Given the description of an element on the screen output the (x, y) to click on. 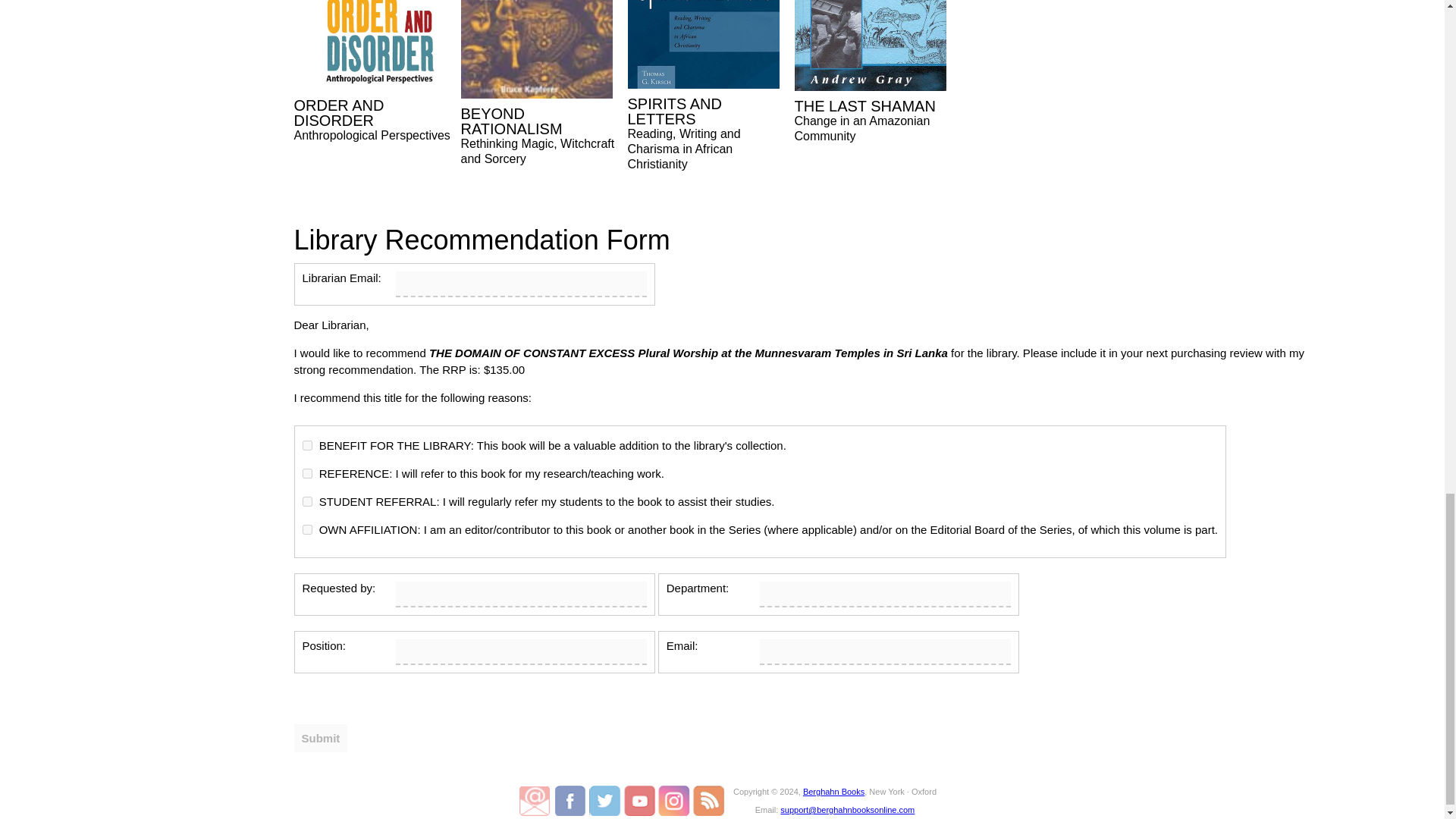
on (306, 445)
on (306, 501)
Berghahn Books on Facebook (571, 800)
on (306, 529)
Berghahn Books on Twitter (606, 800)
on (306, 473)
Submit (320, 737)
